Given the description of an element on the screen output the (x, y) to click on. 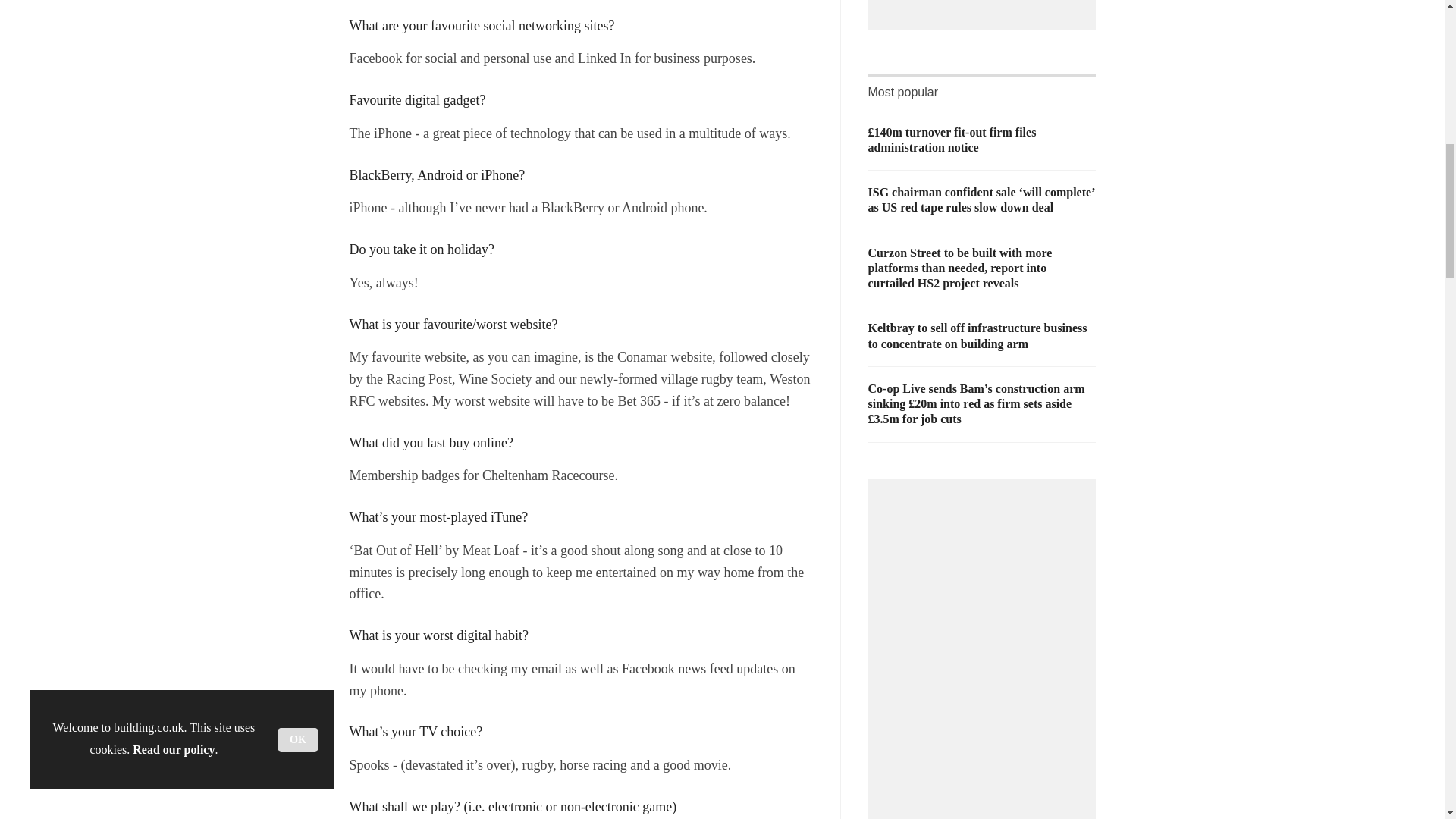
3rd party ad content (985, 2)
